Given the description of an element on the screen output the (x, y) to click on. 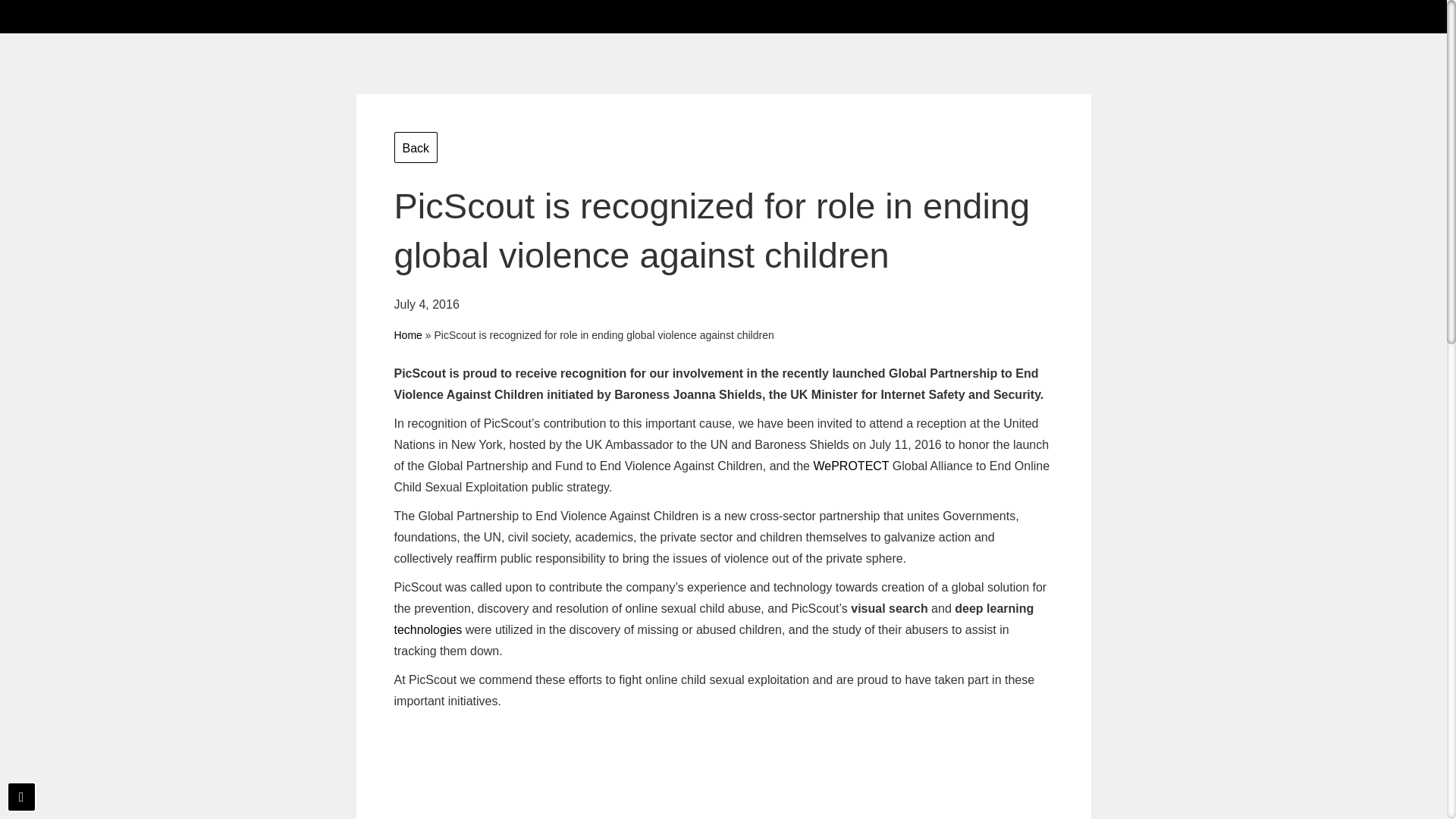
Back (416, 146)
accessibility (21, 797)
Home (408, 335)
technologies (428, 629)
WePROTECT (850, 465)
